Given the description of an element on the screen output the (x, y) to click on. 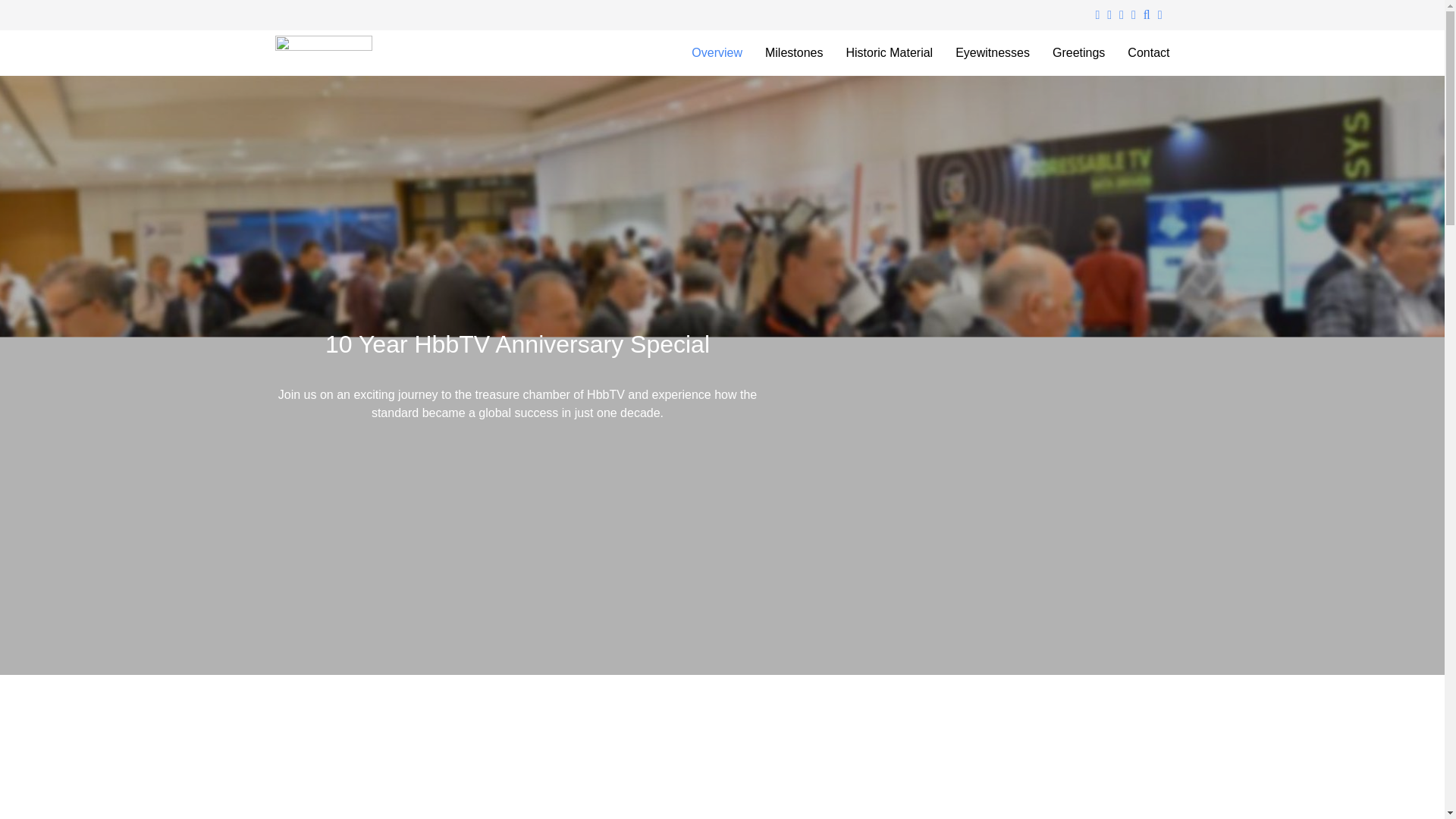
Contact (1147, 53)
Greetings (1078, 53)
Historic Material (889, 53)
Milestones (793, 53)
Eyewitnesses (992, 53)
Overview (716, 53)
